Given the description of an element on the screen output the (x, y) to click on. 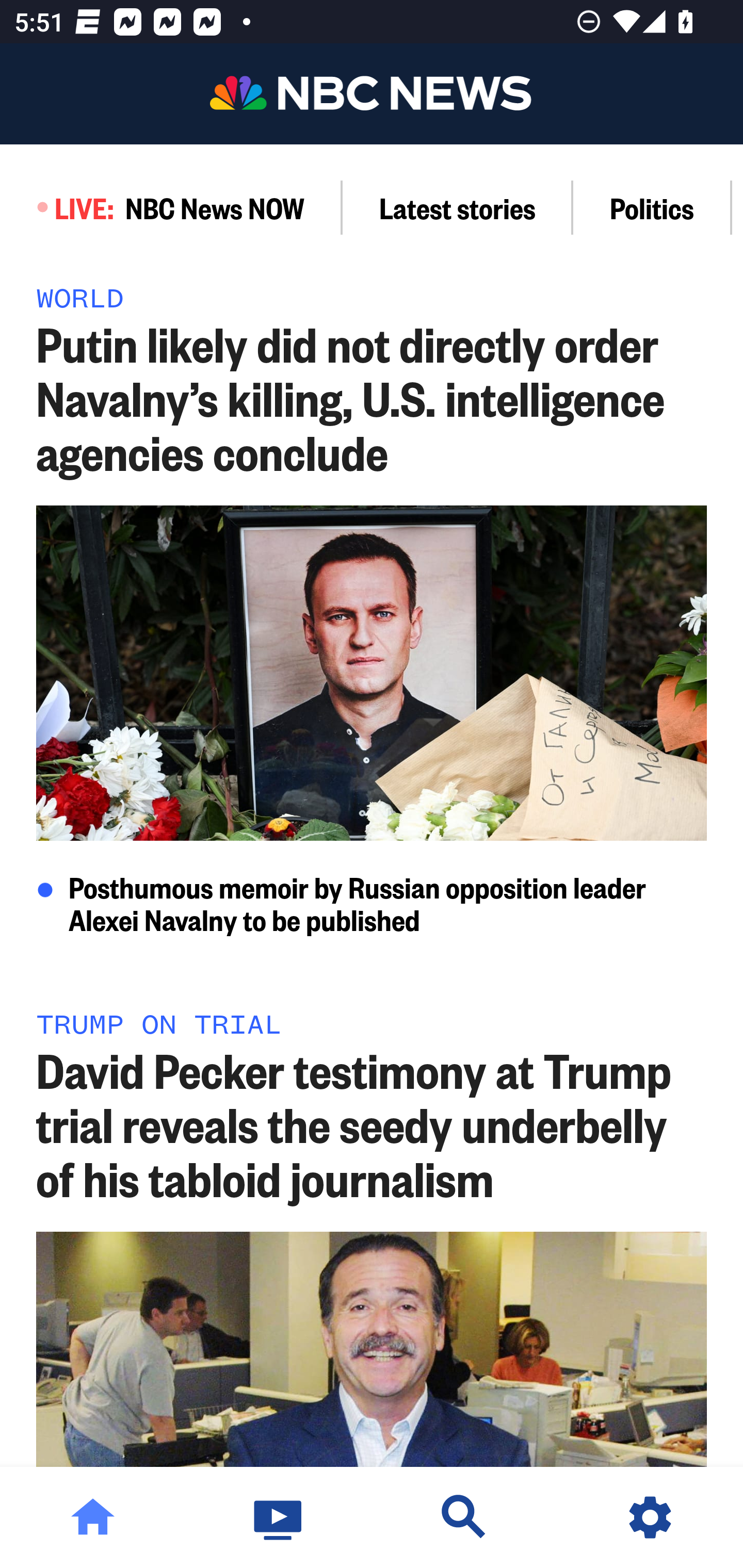
LIVE:  NBC News NOW (171, 207)
Latest stories Section,Latest stories (457, 207)
Politics Section,Politics (652, 207)
Watch (278, 1517)
Discover (464, 1517)
Settings (650, 1517)
